Given the description of an element on the screen output the (x, y) to click on. 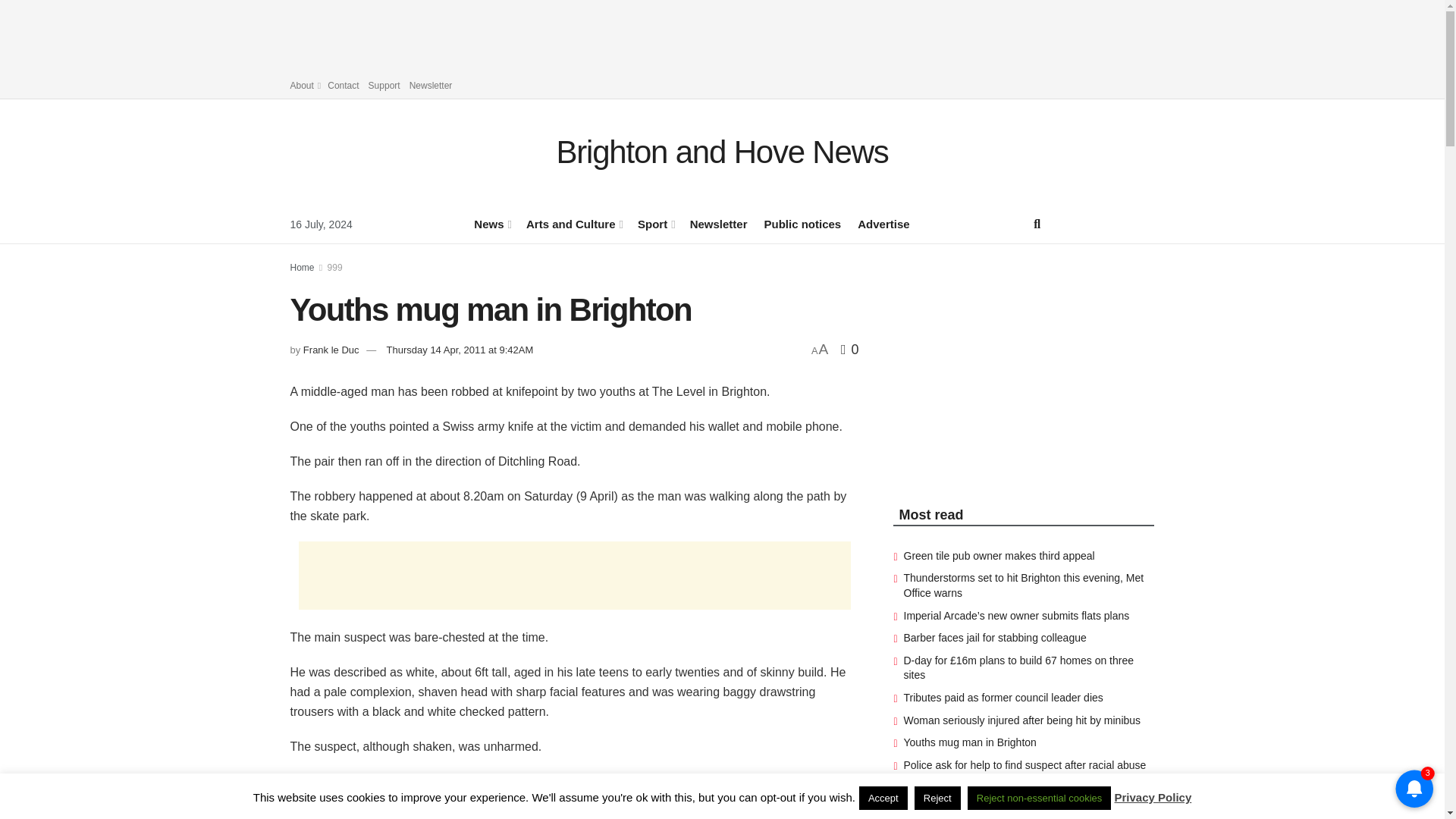
Advertisement (722, 33)
Brighton and Hove News (722, 152)
Arts and Culture (573, 223)
Advertisement (574, 575)
About (303, 85)
Sport (654, 223)
Contact (342, 85)
Newsletter (430, 85)
Support (384, 85)
Newsletter (719, 223)
Advertise (882, 223)
News (491, 223)
Public notices (802, 223)
